Given the description of an element on the screen output the (x, y) to click on. 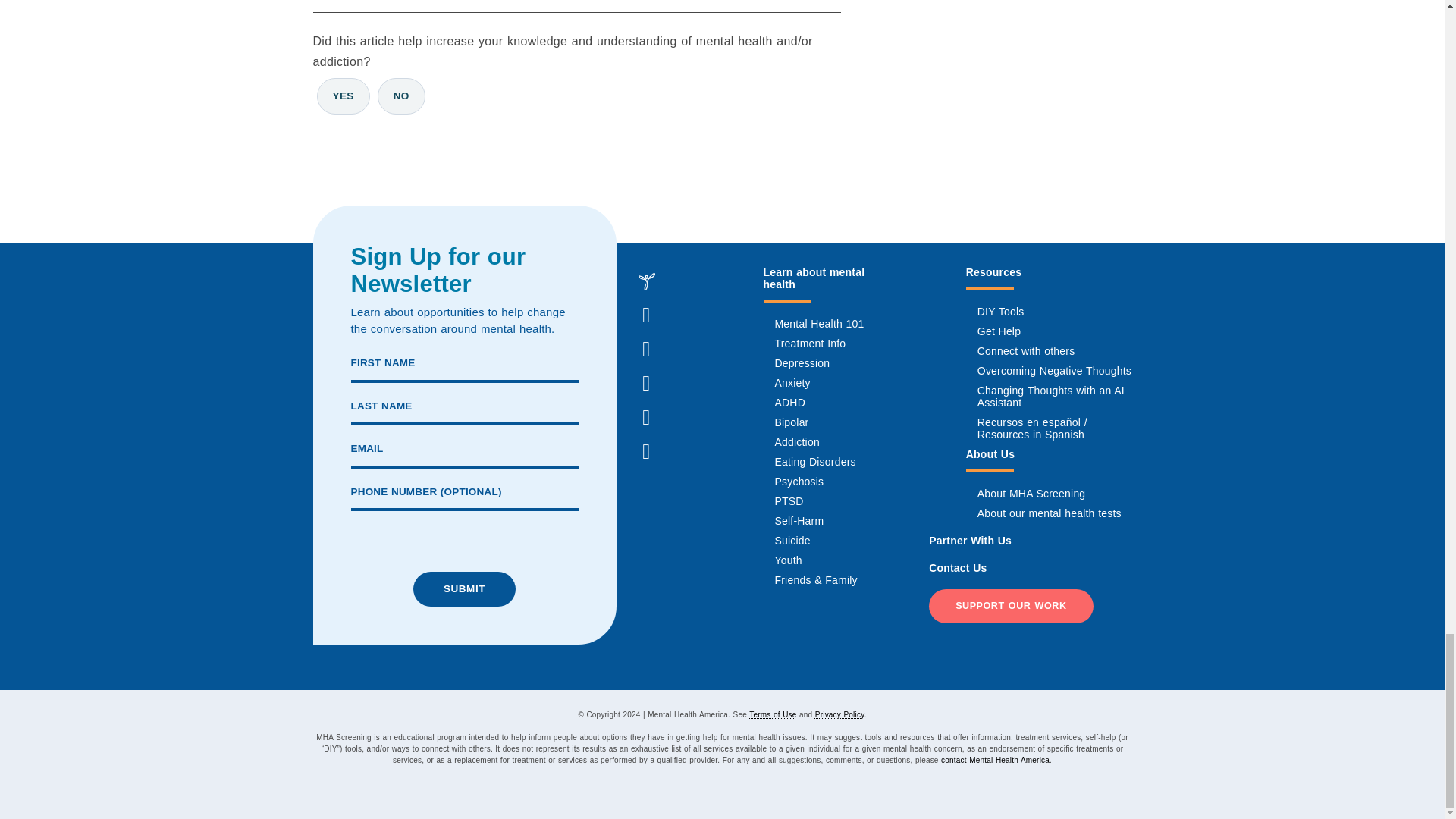
Link to Pinterest (645, 417)
Link to Instagram (645, 349)
Link to Youtube (645, 451)
Link to Twitter (645, 383)
Submit (464, 588)
Link to Facebook (645, 315)
Link to Inspire (645, 281)
